Given the description of an element on the screen output the (x, y) to click on. 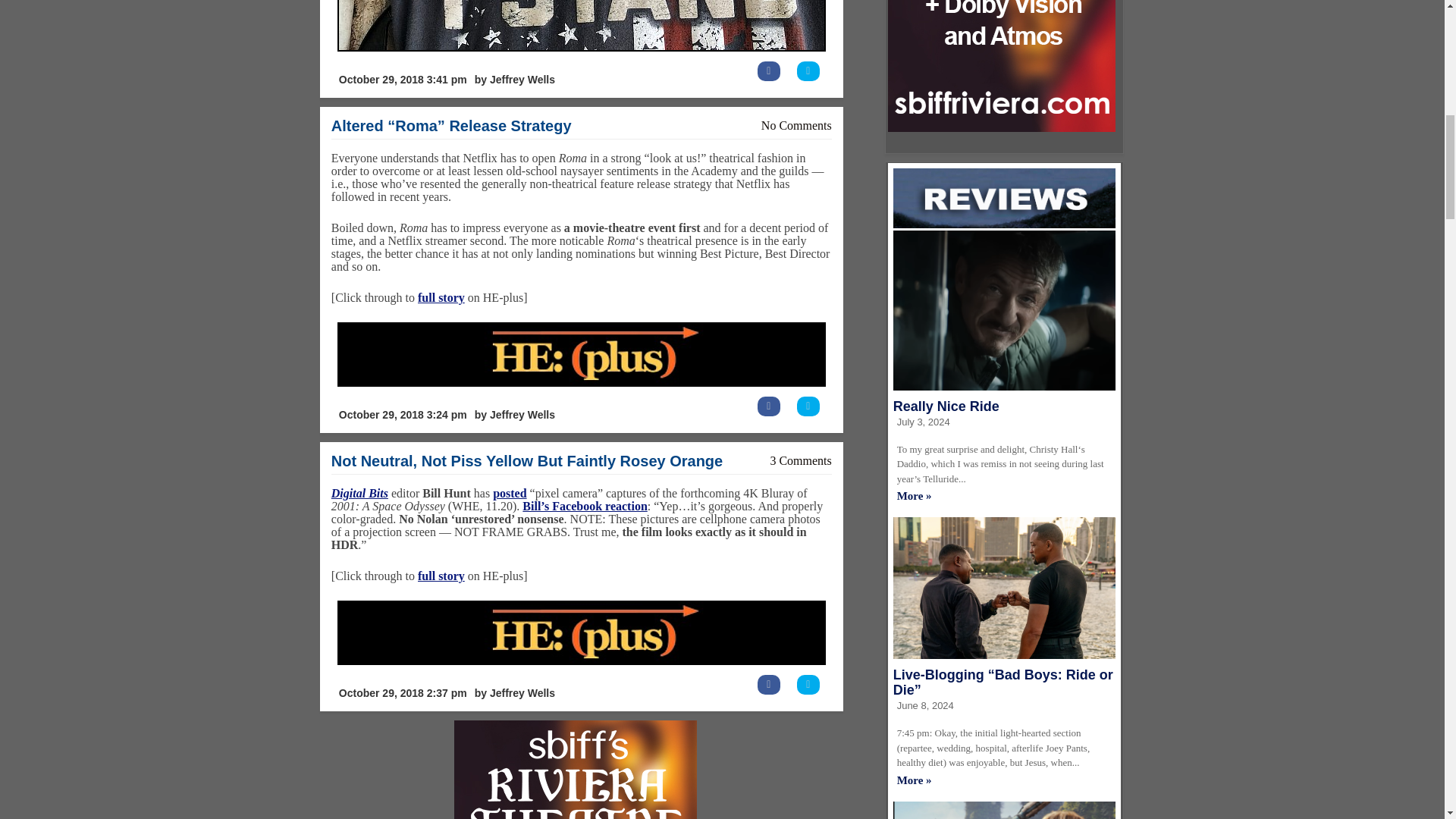
October 29, 2018 3:24 pm (402, 414)
by Jeffrey Wells (514, 414)
3 Comments (800, 460)
full story (440, 297)
by Jeffrey Wells (514, 79)
full story (440, 575)
Not Neutral, Not Piss Yellow But Faintly Rosey Orange (526, 460)
Digital Bits (359, 492)
No Comments (796, 124)
October 29, 2018 3:41 pm (402, 79)
posted (509, 492)
